Given the description of an element on the screen output the (x, y) to click on. 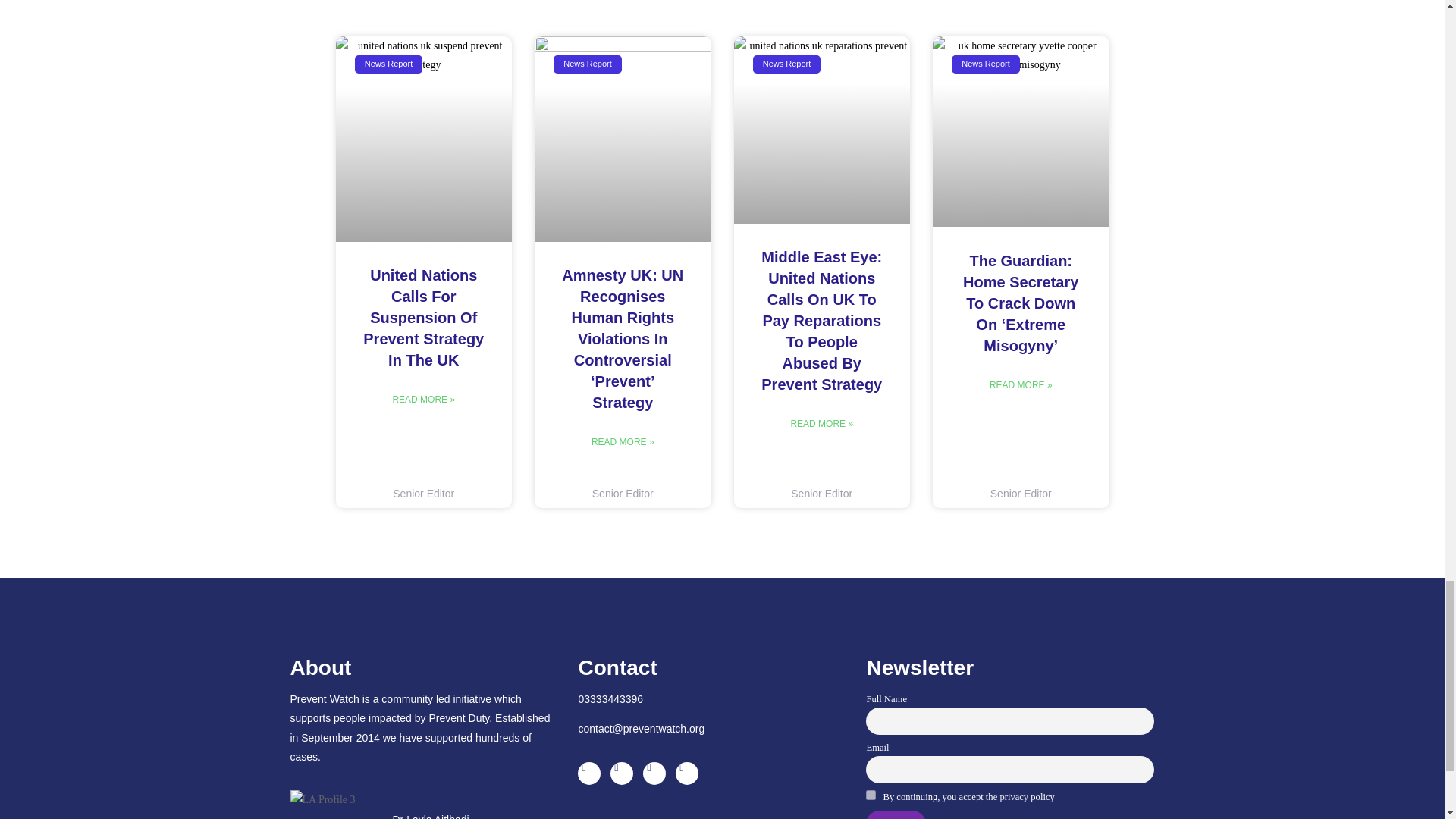
Subscribe (896, 814)
on (871, 795)
LA Profile 3 (322, 799)
